Given the description of an element on the screen output the (x, y) to click on. 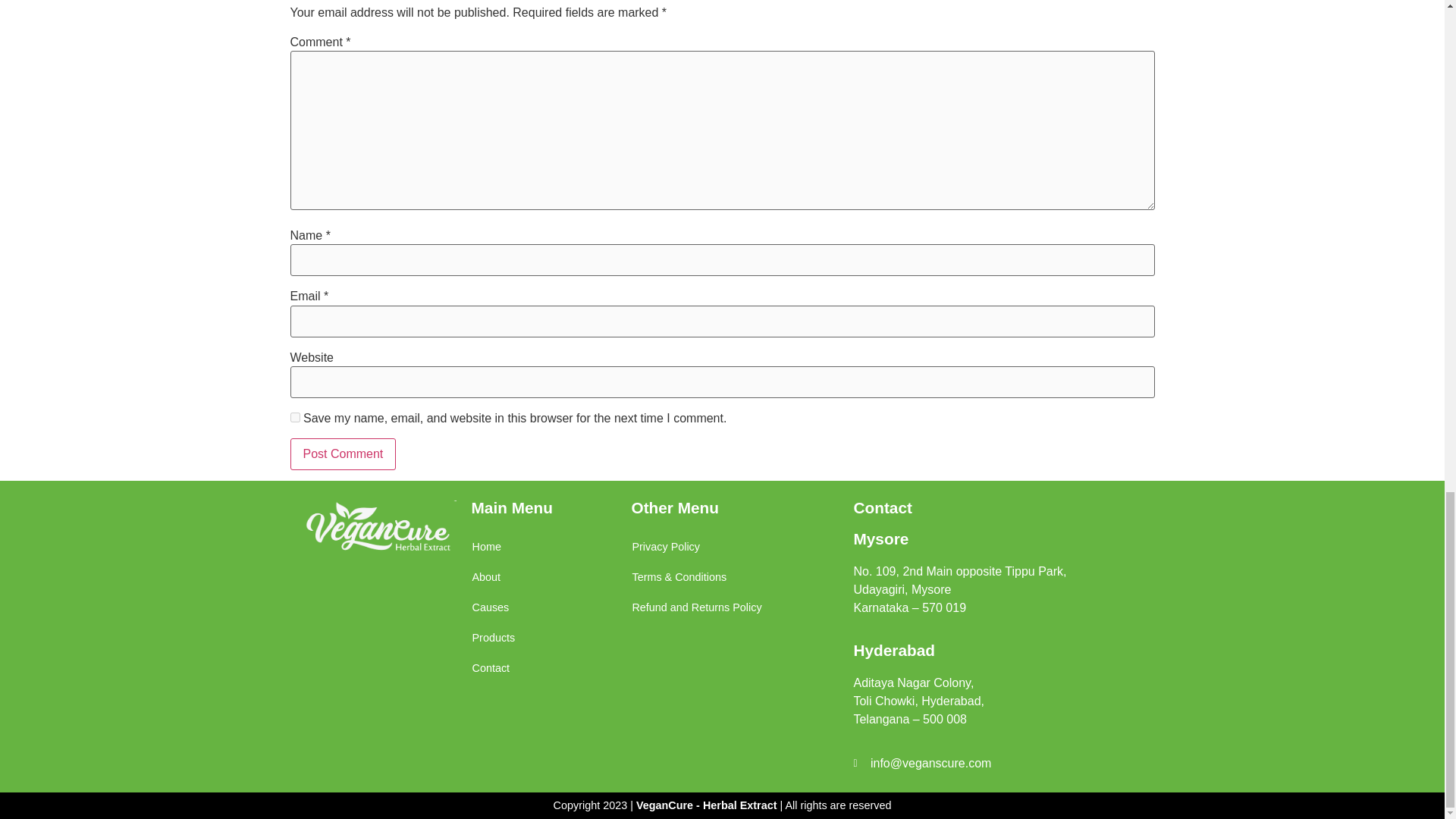
Post Comment (342, 454)
yes (294, 417)
Post Comment (342, 454)
